Given the description of an element on the screen output the (x, y) to click on. 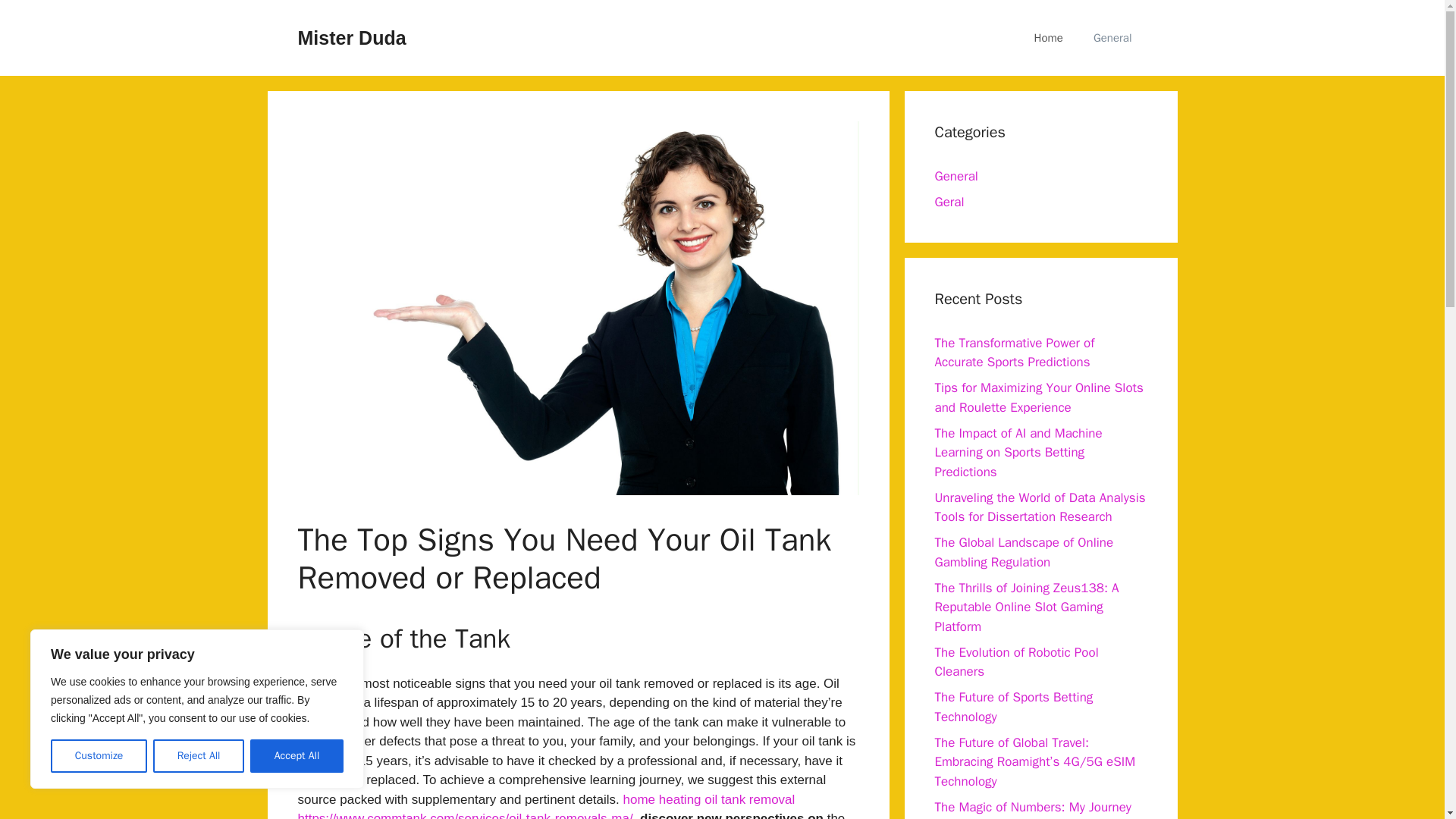
Mister Duda (351, 37)
Reject All (198, 756)
The Transformative Power of Accurate Sports Predictions (1014, 352)
Accept All (296, 756)
The Evolution of Robotic Pool Cleaners (1015, 662)
General (1112, 37)
The Global Landscape of Online Gambling Regulation (1023, 552)
Customize (98, 756)
Home (1048, 37)
General (955, 176)
Geral (948, 201)
